Given the description of an element on the screen output the (x, y) to click on. 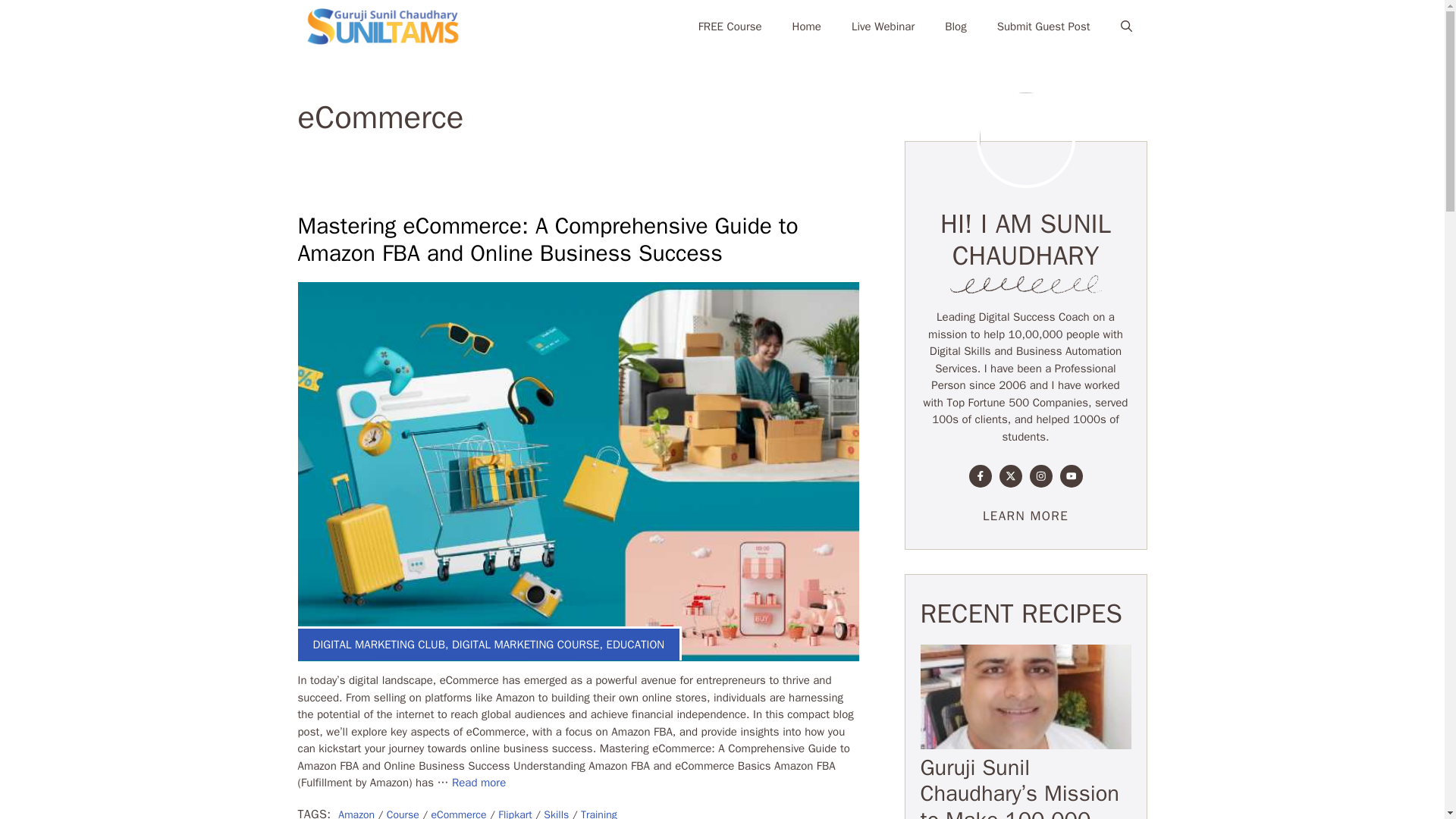
Live Webinar (882, 26)
Read more (478, 782)
Submit Guest Post (1043, 26)
Amazon (355, 813)
eCommerce (458, 813)
Course (403, 813)
FREE Course (729, 26)
Skills (556, 813)
LEARN MORE (1025, 516)
